Given the description of an element on the screen output the (x, y) to click on. 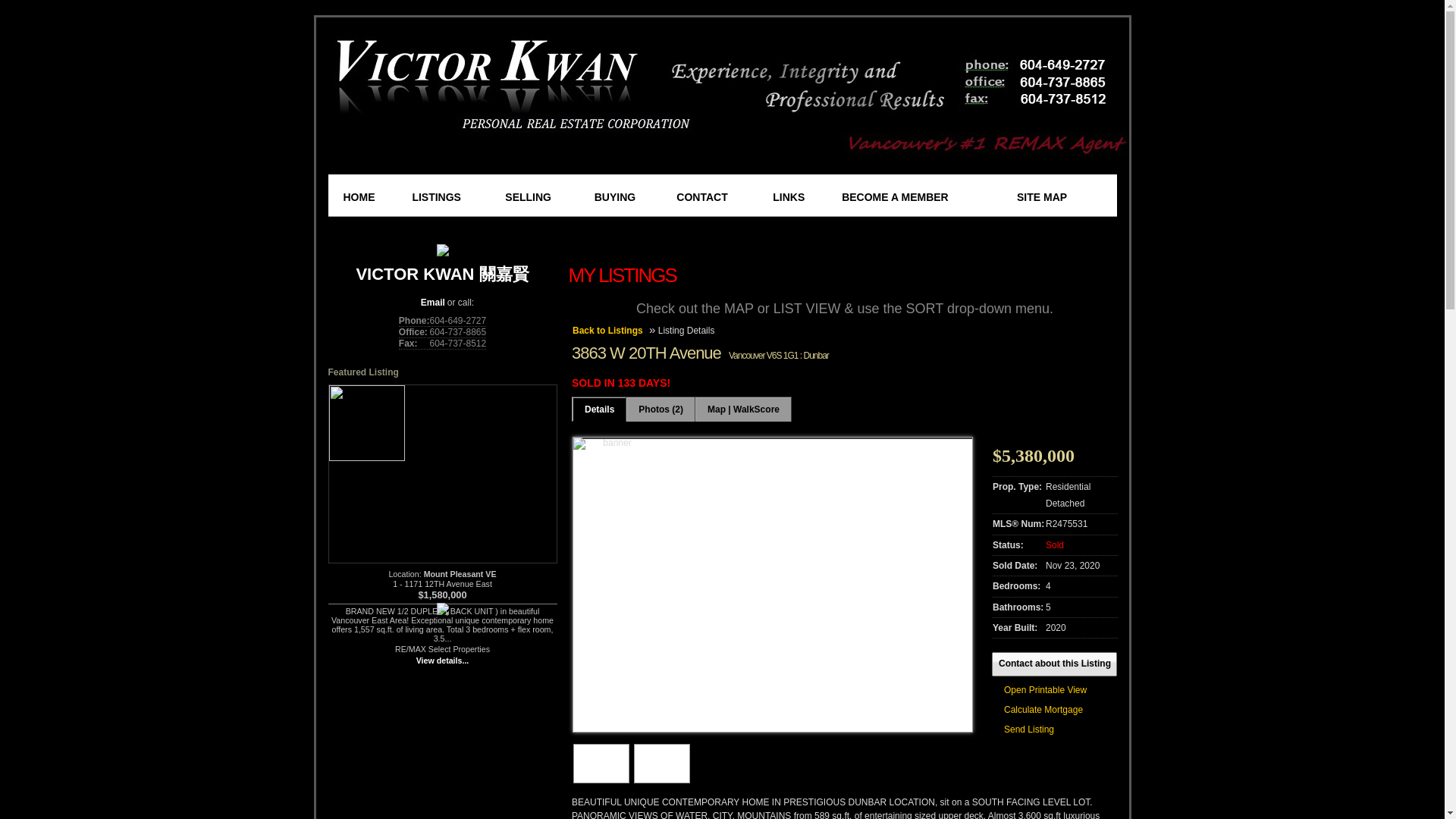
BUYING (626, 196)
BUYING (626, 196)
BECOME A MEMBER (920, 196)
LINKS (798, 196)
SELLING (541, 196)
HOME (367, 196)
BECOME A MEMBER (920, 196)
View details... (442, 660)
HOME (367, 196)
SITE MAP (1055, 196)
